Given the description of an element on the screen output the (x, y) to click on. 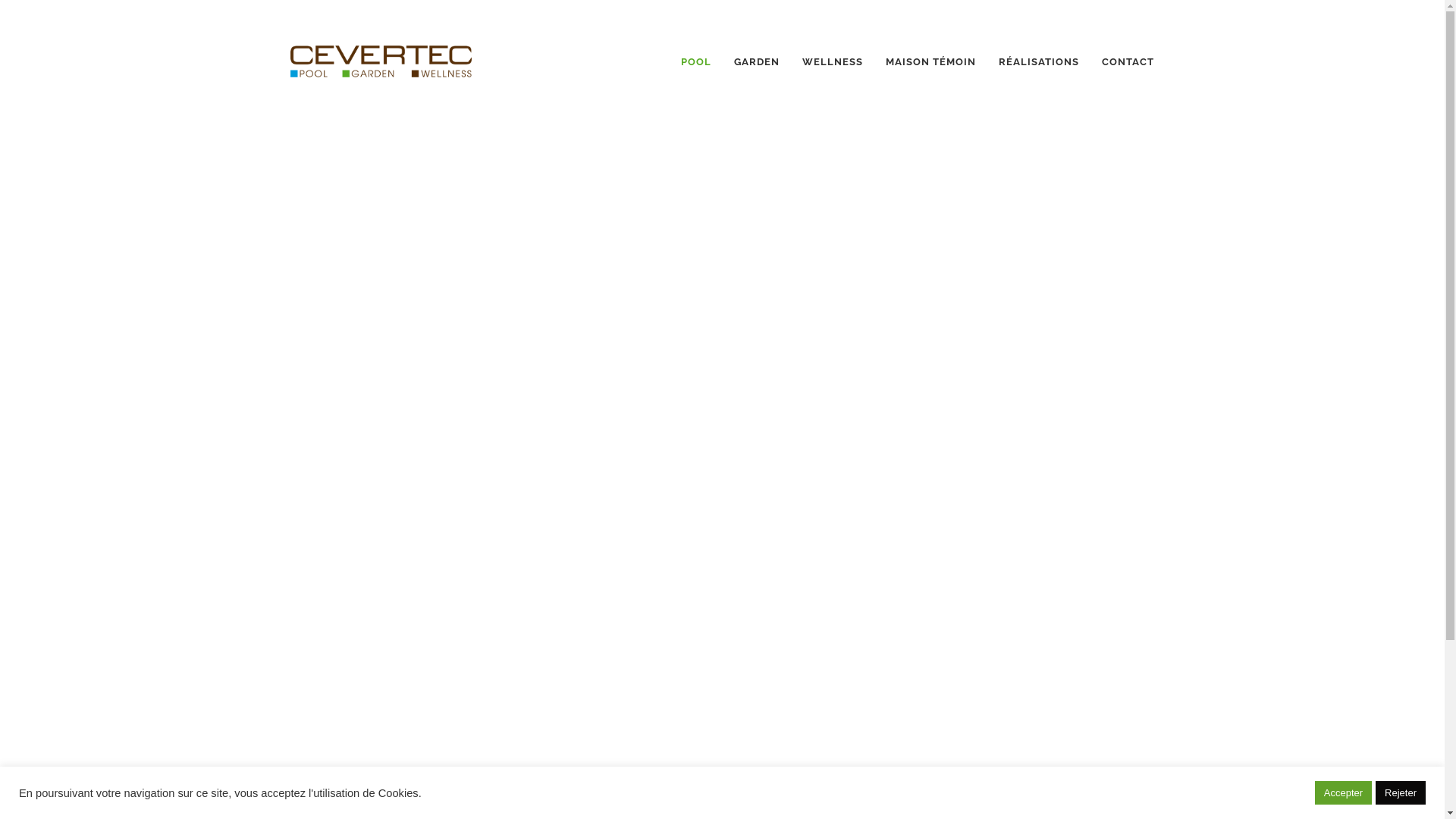
Rejeter Element type: text (1400, 792)
POOL Element type: text (695, 61)
CONTACT Element type: text (1127, 61)
Accepter Element type: text (1342, 792)
WELLNESS Element type: text (832, 61)
GARDEN Element type: text (756, 61)
